Given the description of an element on the screen output the (x, y) to click on. 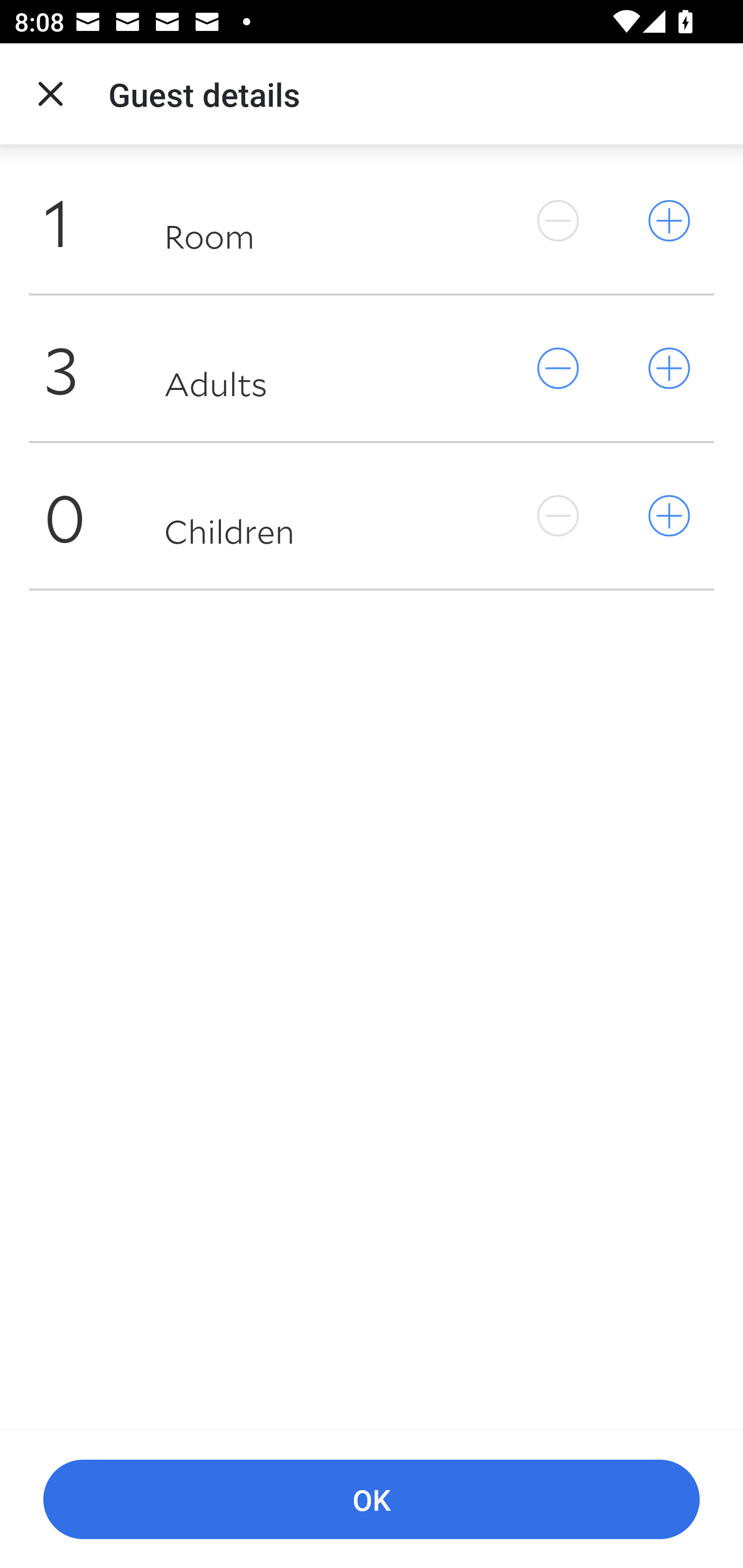
OK (371, 1499)
